Given the description of an element on the screen output the (x, y) to click on. 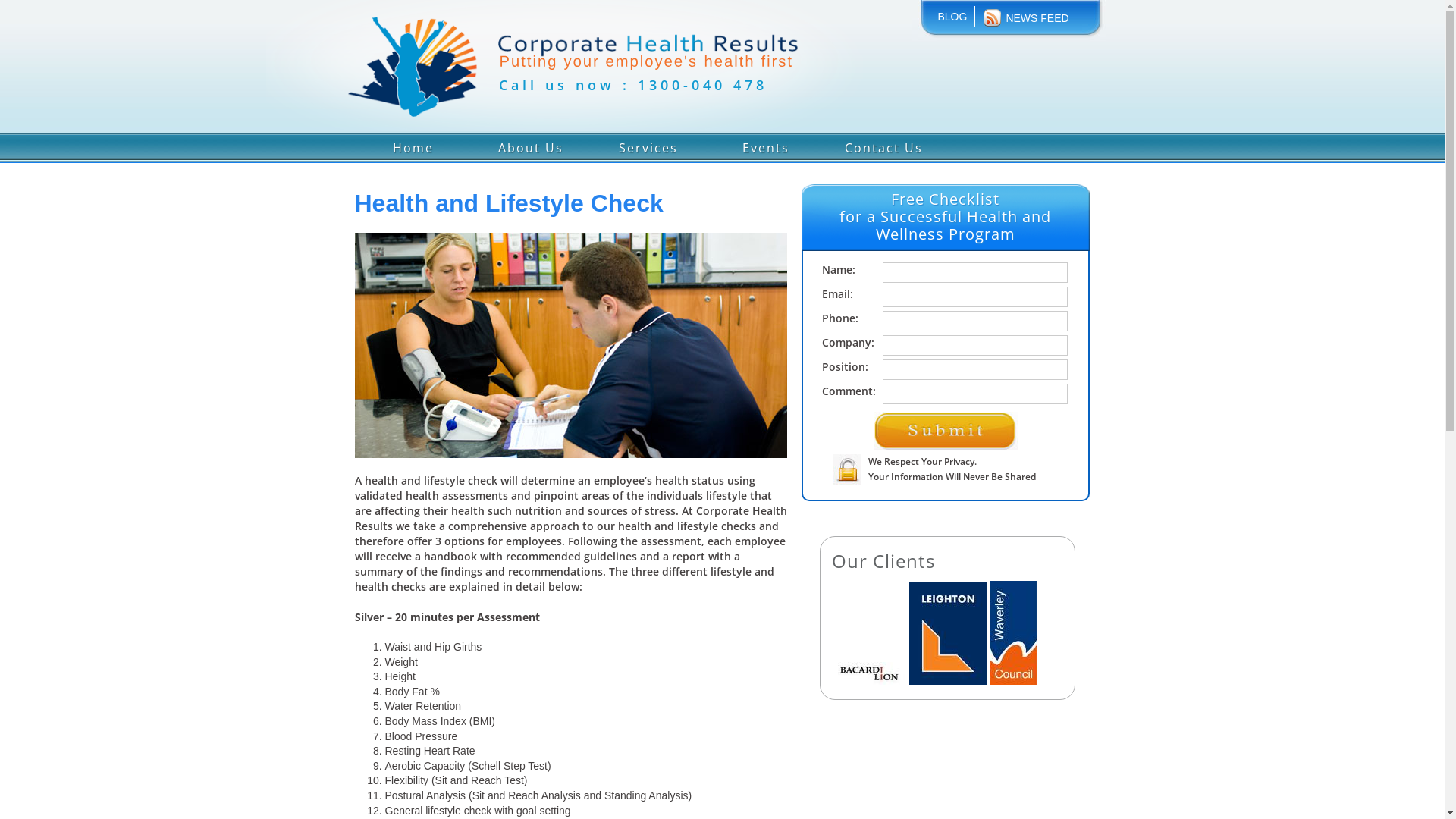
Services Element type: text (648, 145)
Events Element type: text (765, 145)
Home Element type: text (413, 145)
Contact Us Element type: text (883, 145)
Health Assesment Element type: hover (570, 345)
About Us Element type: text (530, 145)
Send Element type: text (945, 430)
BLOG Element type: text (956, 16)
